Given the description of an element on the screen output the (x, y) to click on. 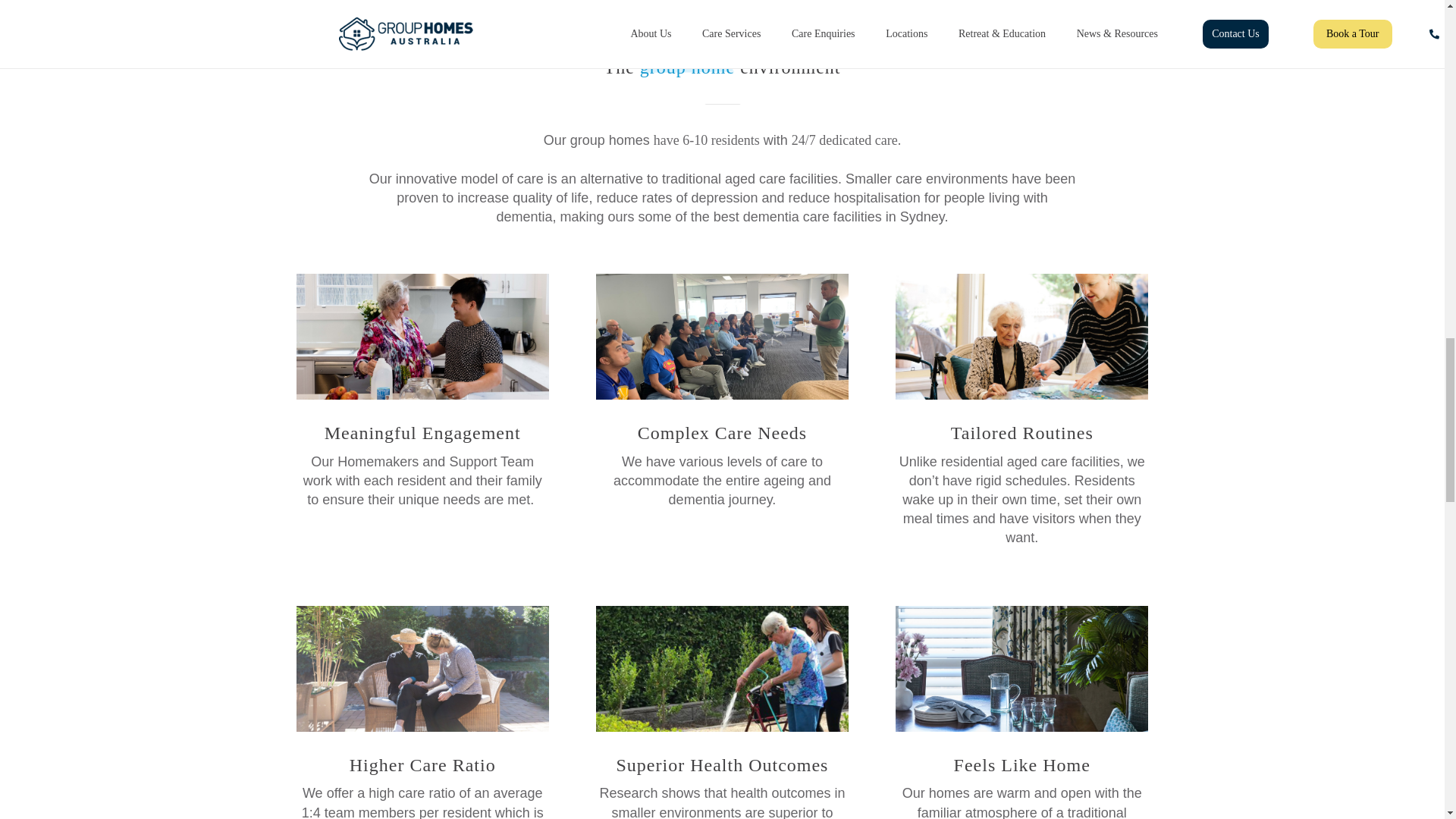
Superior health outcomes (721, 669)
Meaningful Engagement (421, 336)
Feels like home (1021, 669)
Higher care ratio (421, 669)
Tailored routines (1021, 336)
Complex Care needs (721, 336)
